Given the description of an element on the screen output the (x, y) to click on. 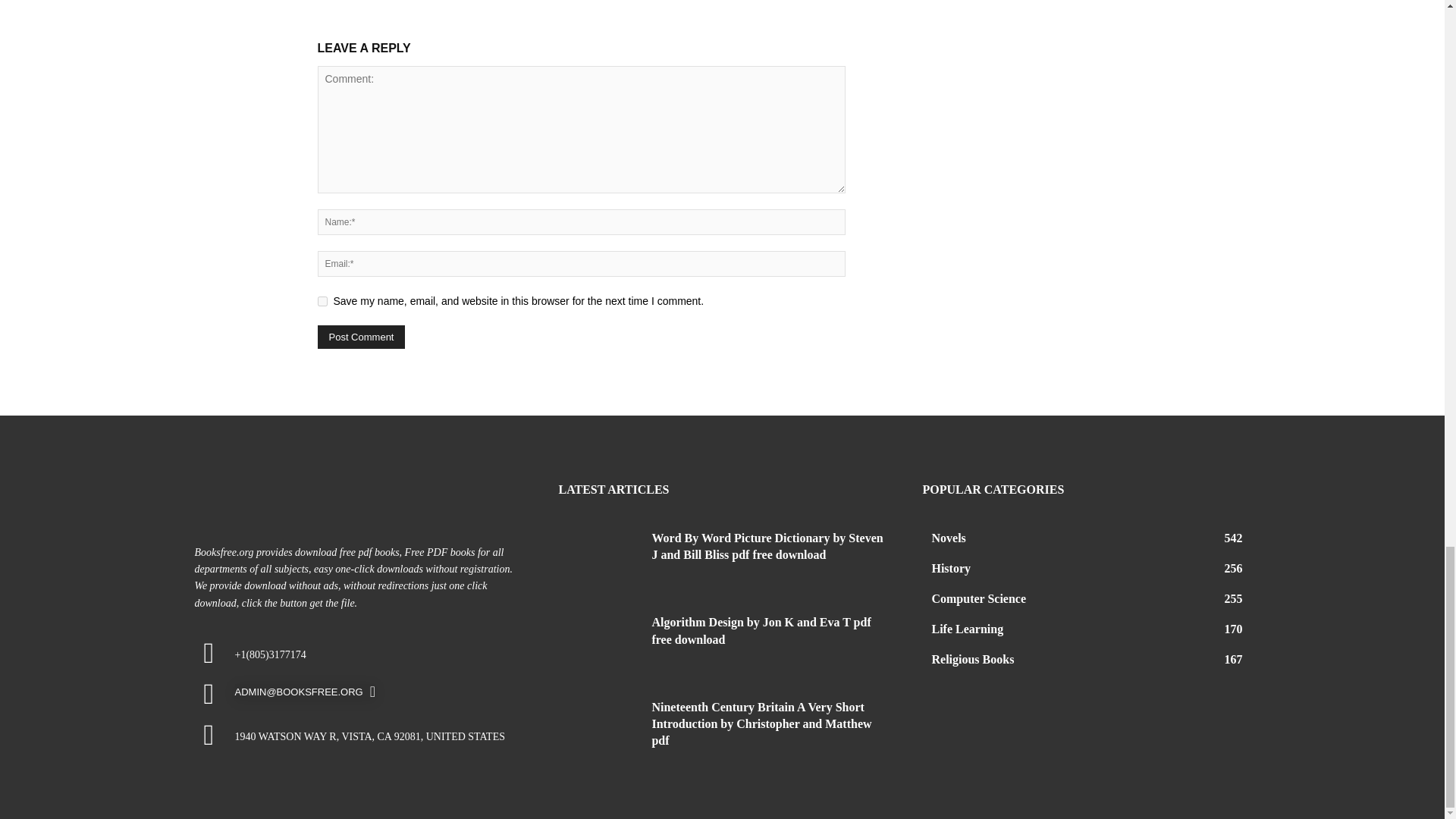
Post Comment (360, 336)
yes (321, 301)
